Given the description of an element on the screen output the (x, y) to click on. 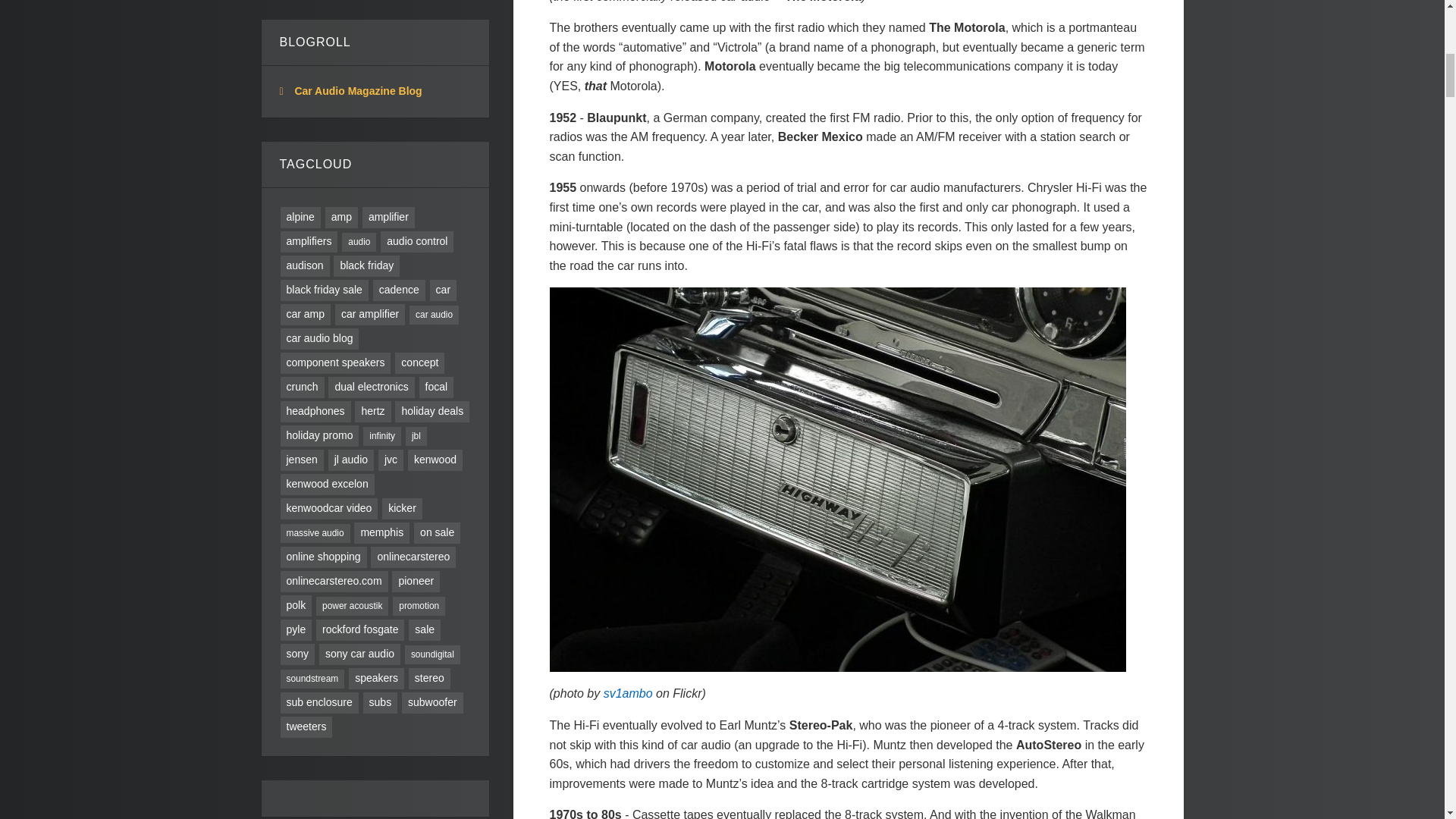
black friday (365, 265)
amplifiers (309, 241)
Tag: audison (305, 265)
amp (341, 217)
Tag: amplifier (388, 217)
Tag: audio control (416, 241)
car amp (306, 314)
amplifier (388, 217)
black friday sale (324, 290)
audison (305, 265)
car amplifier (369, 314)
Tag: audio (358, 241)
audio control (416, 241)
Car Audio Magazine Blog (358, 91)
Tag: alpine (300, 217)
